Given the description of an element on the screen output the (x, y) to click on. 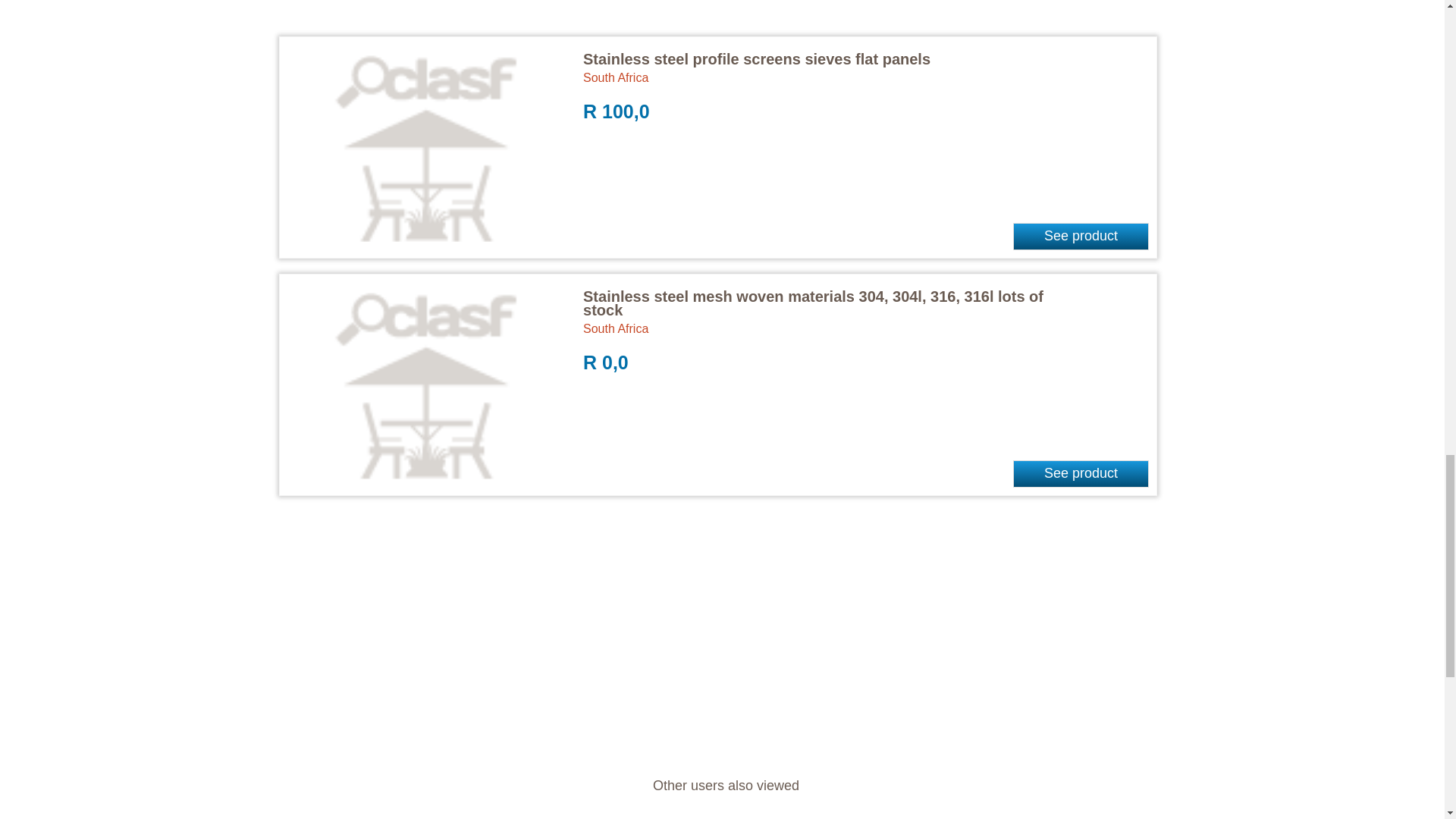
Stainless steel profile screens sieves flat panels (756, 58)
Stainless steel profile screens sieves flat panels (756, 58)
